Given the description of an element on the screen output the (x, y) to click on. 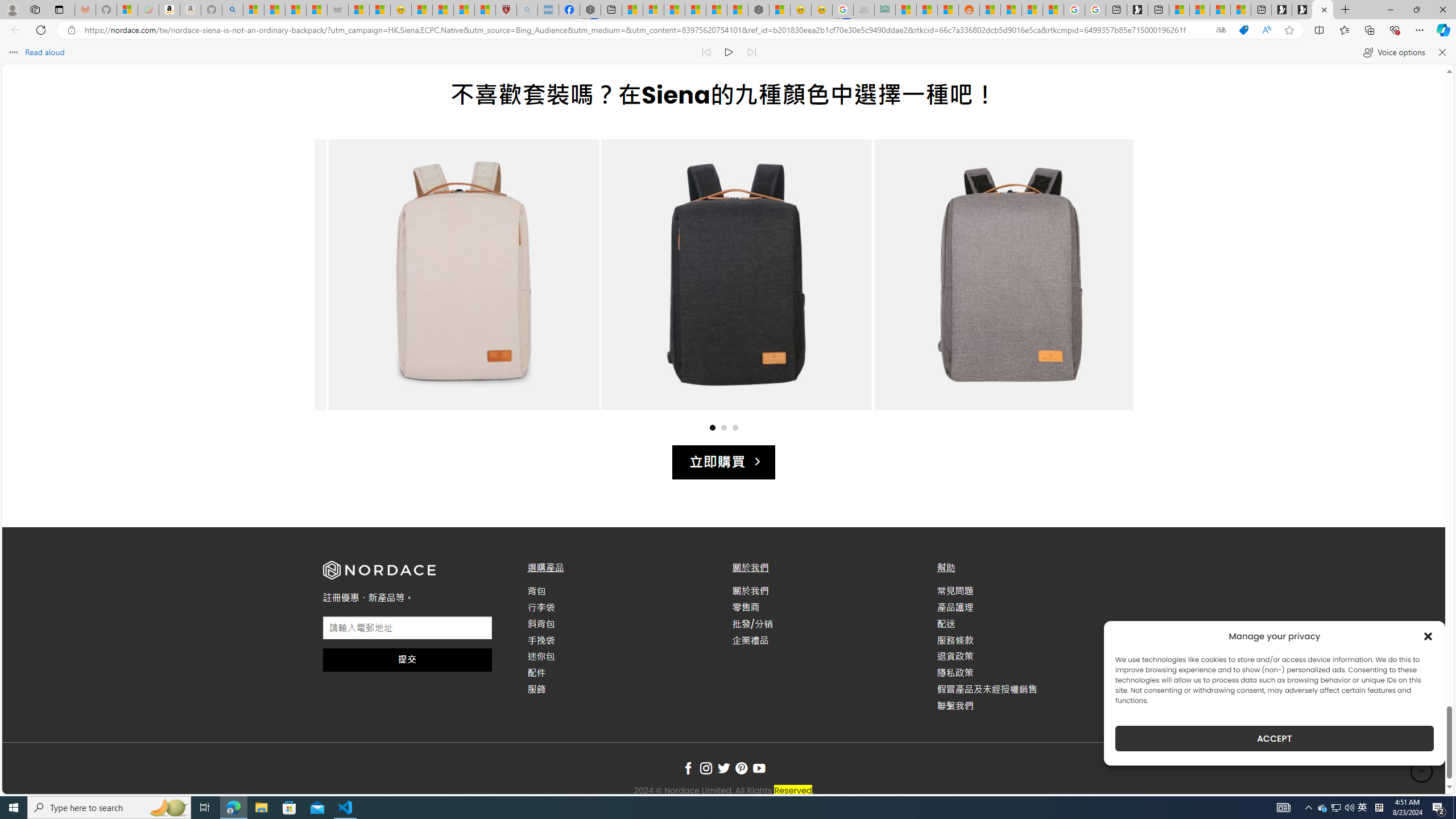
Class: flickity-button-icon (1102, 285)
These 3 Stocks Pay You More Than 5% to Own Them (1240, 9)
Class: cmplz-close (1428, 636)
